Given the description of an element on the screen output the (x, y) to click on. 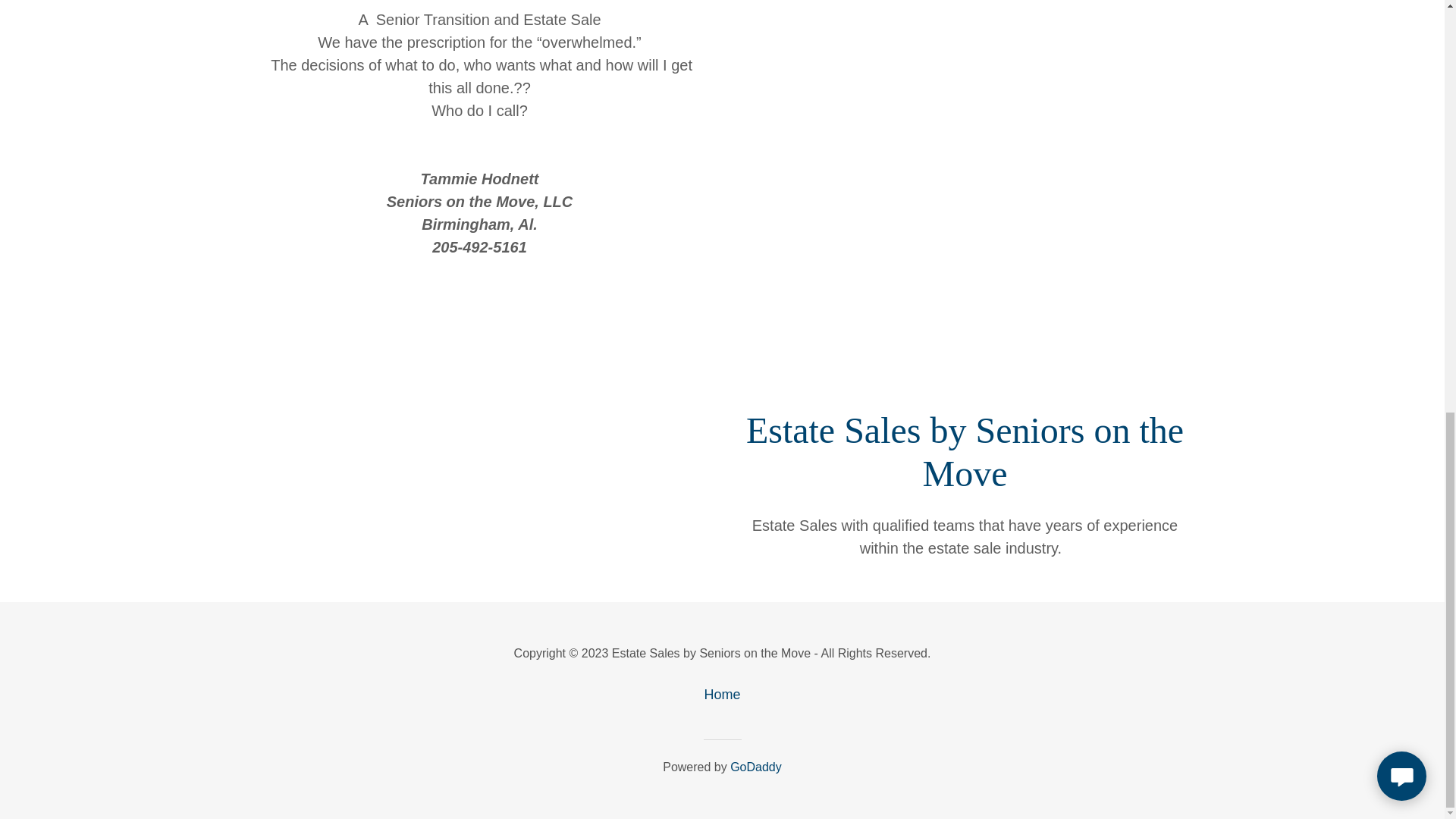
Home (721, 694)
ACCEPT (1274, 312)
GoDaddy (755, 766)
